Given the description of an element on the screen output the (x, y) to click on. 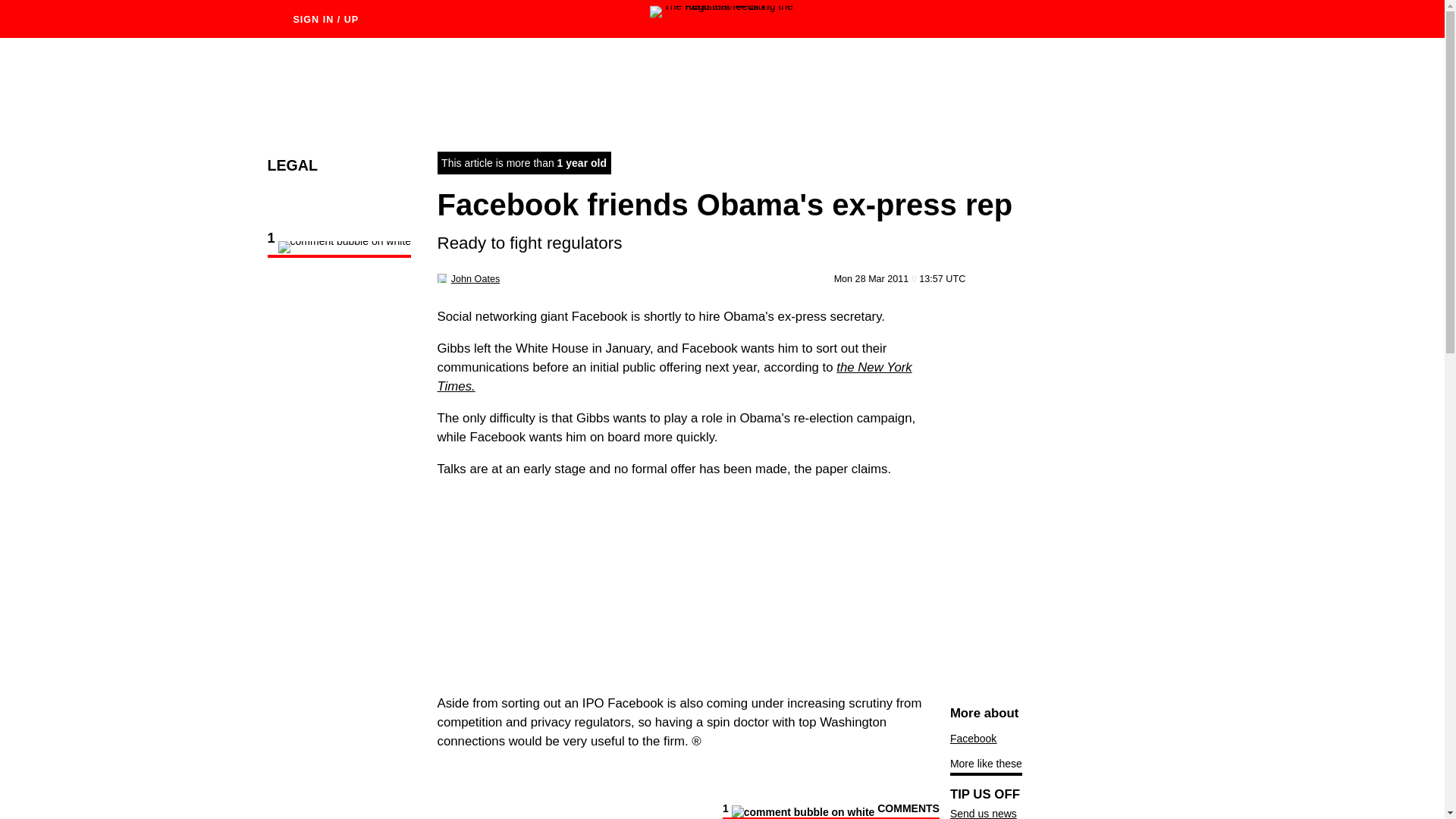
View comments on this article (830, 810)
View comments on this article (338, 248)
Read more by this author (475, 278)
